Given the description of an element on the screen output the (x, y) to click on. 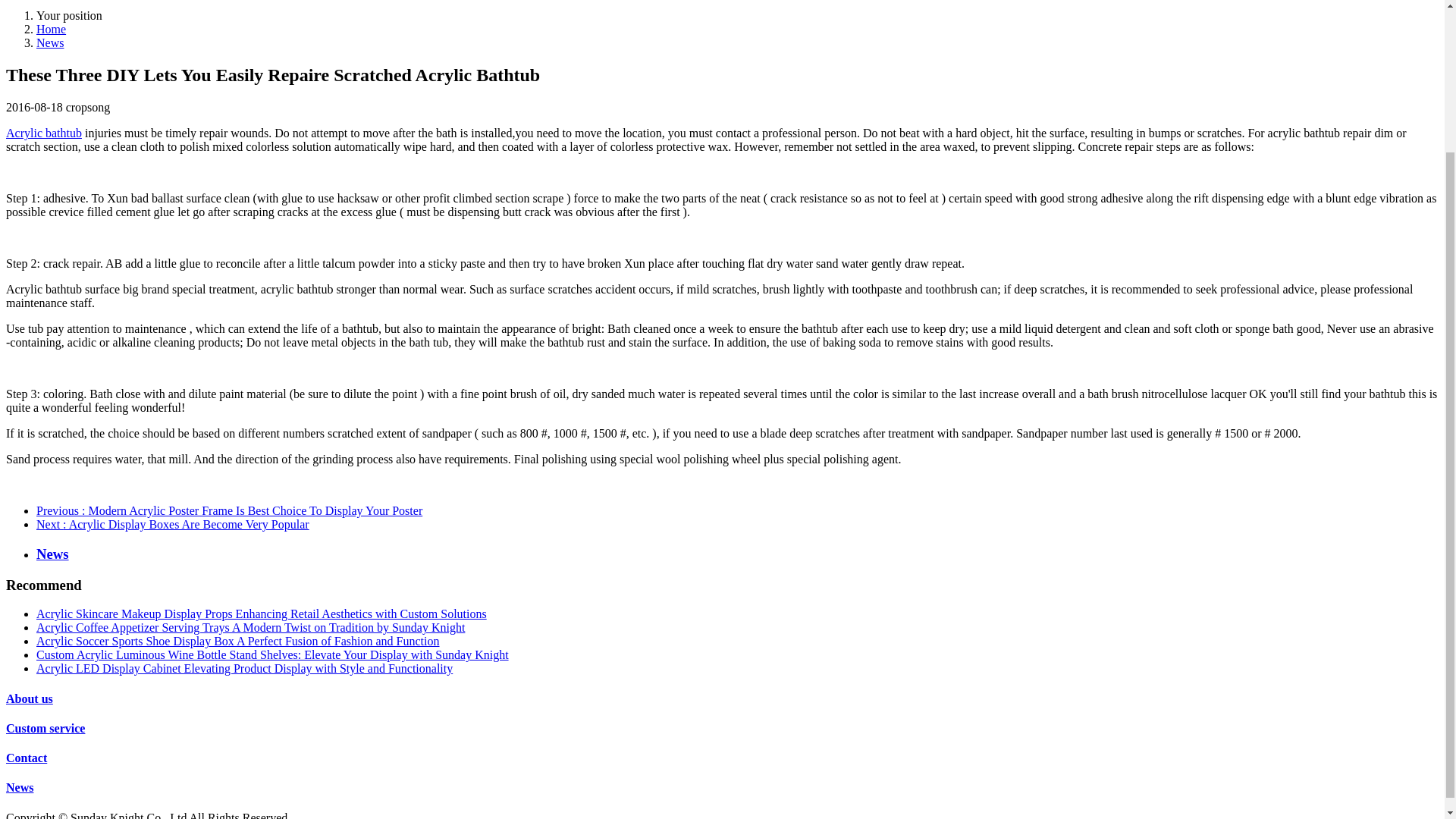
News (50, 42)
Acrylic bathtub (43, 132)
Home (50, 29)
Next : Acrylic Display Boxes Are Become Very Popular (172, 523)
